Given the description of an element on the screen output the (x, y) to click on. 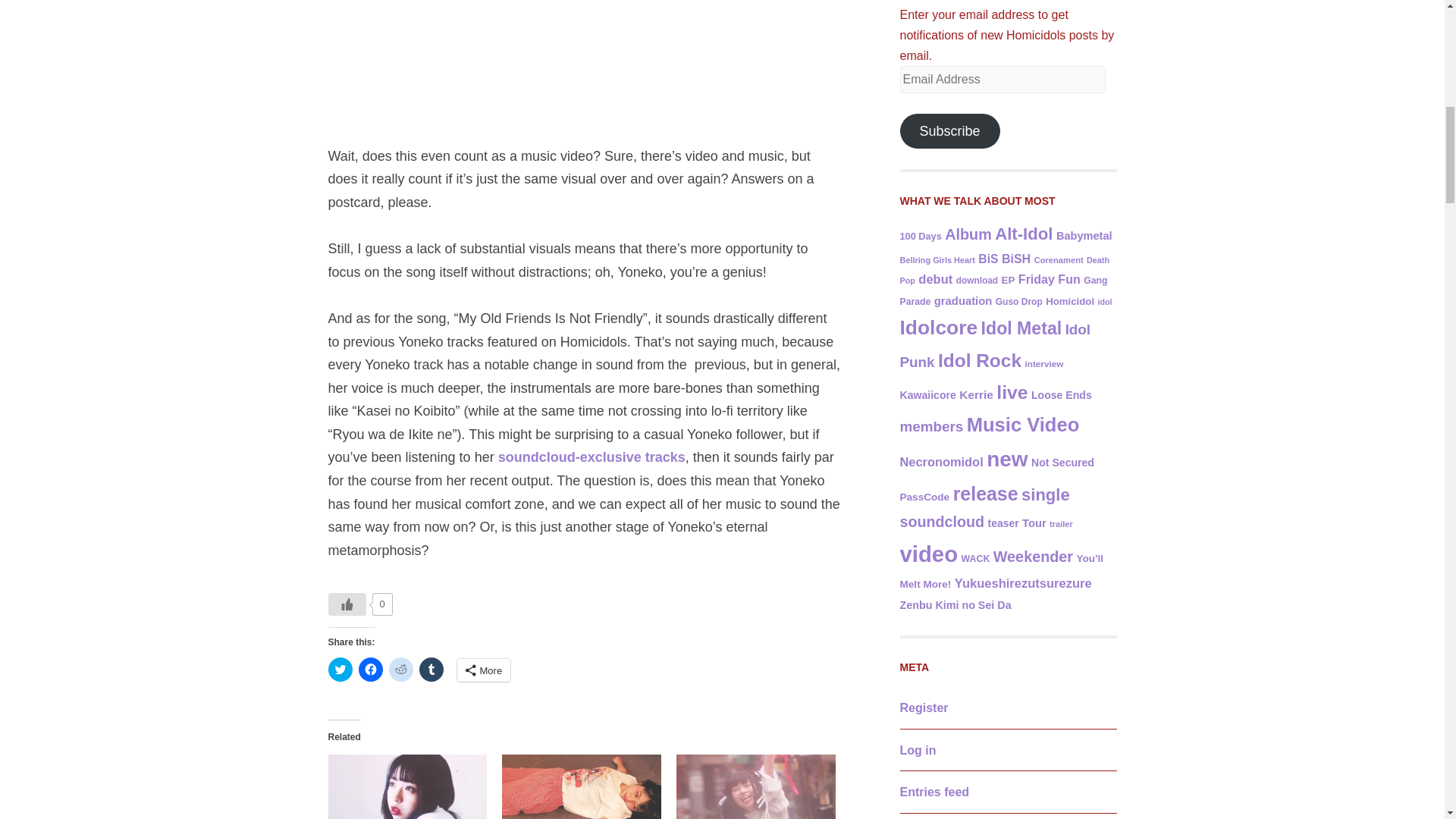
We Interview Idols: YONEKO (756, 786)
Click to share on Facebook (369, 669)
soundcloud-exclusive tracks (591, 457)
Click to share on Twitter (339, 669)
Click to share on Reddit (400, 669)
Subscribe (948, 130)
More (484, 670)
Click to share on Tumblr (430, 669)
